Given the description of an element on the screen output the (x, y) to click on. 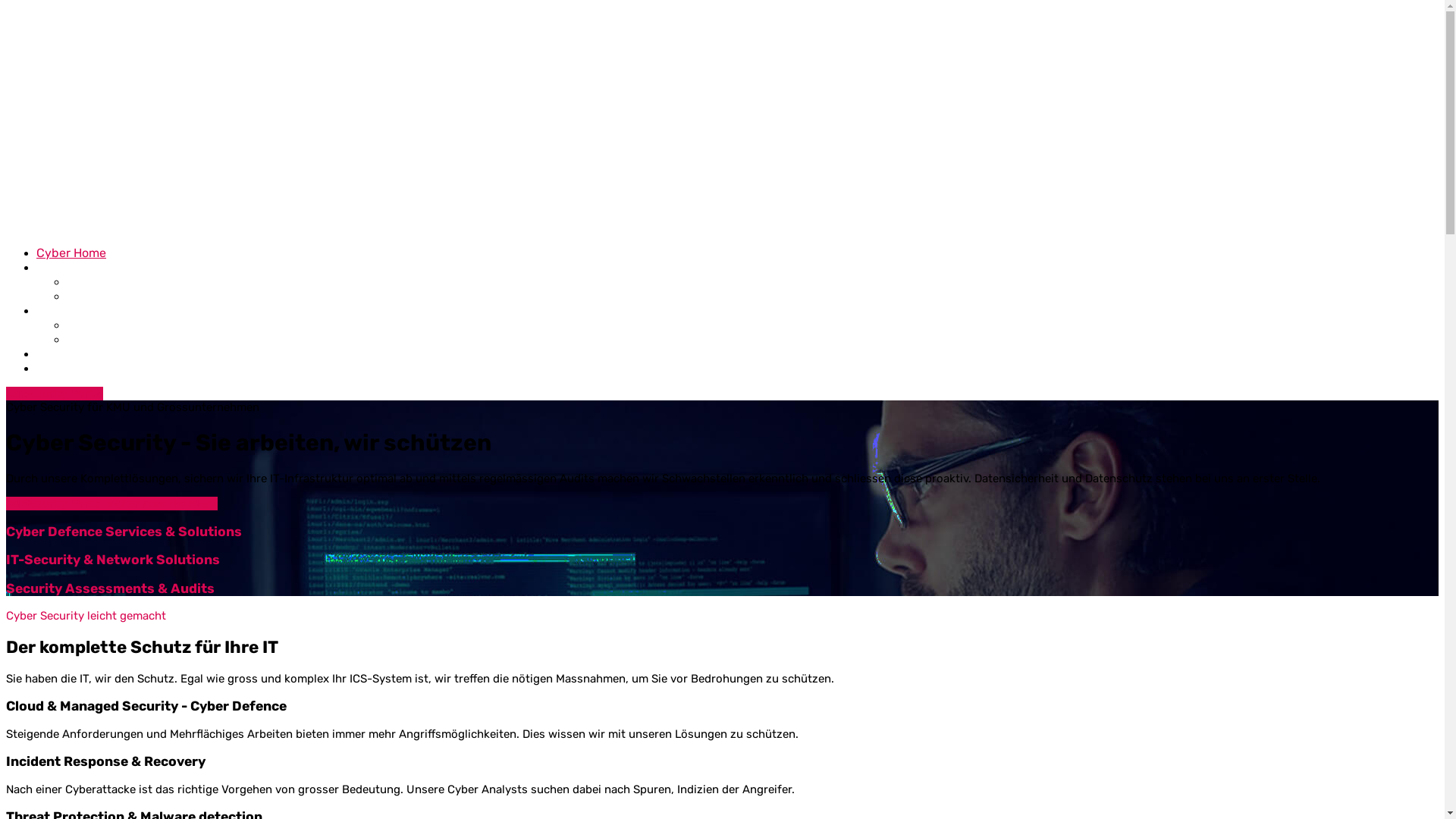
office@advision.swiss Element type: text (94, 18)
Ad.Solutions Element type: text (72, 267)
M365 Security Element type: text (108, 324)
Ad.Security Portal Element type: text (54, 393)
Ad.Security Portal Element type: text (56, 503)
Cyber Home Element type: text (71, 252)
Ad.Services Managed Element type: text (98, 310)
Assessments Element type: text (103, 281)
Managed Detection and Response (MDR) Element type: text (182, 339)
Audits Element type: text (84, 295)
Weiter zum Helpdesk Element type: text (161, 503)
Kontakt Element type: text (58, 367)
